Given the description of an element on the screen output the (x, y) to click on. 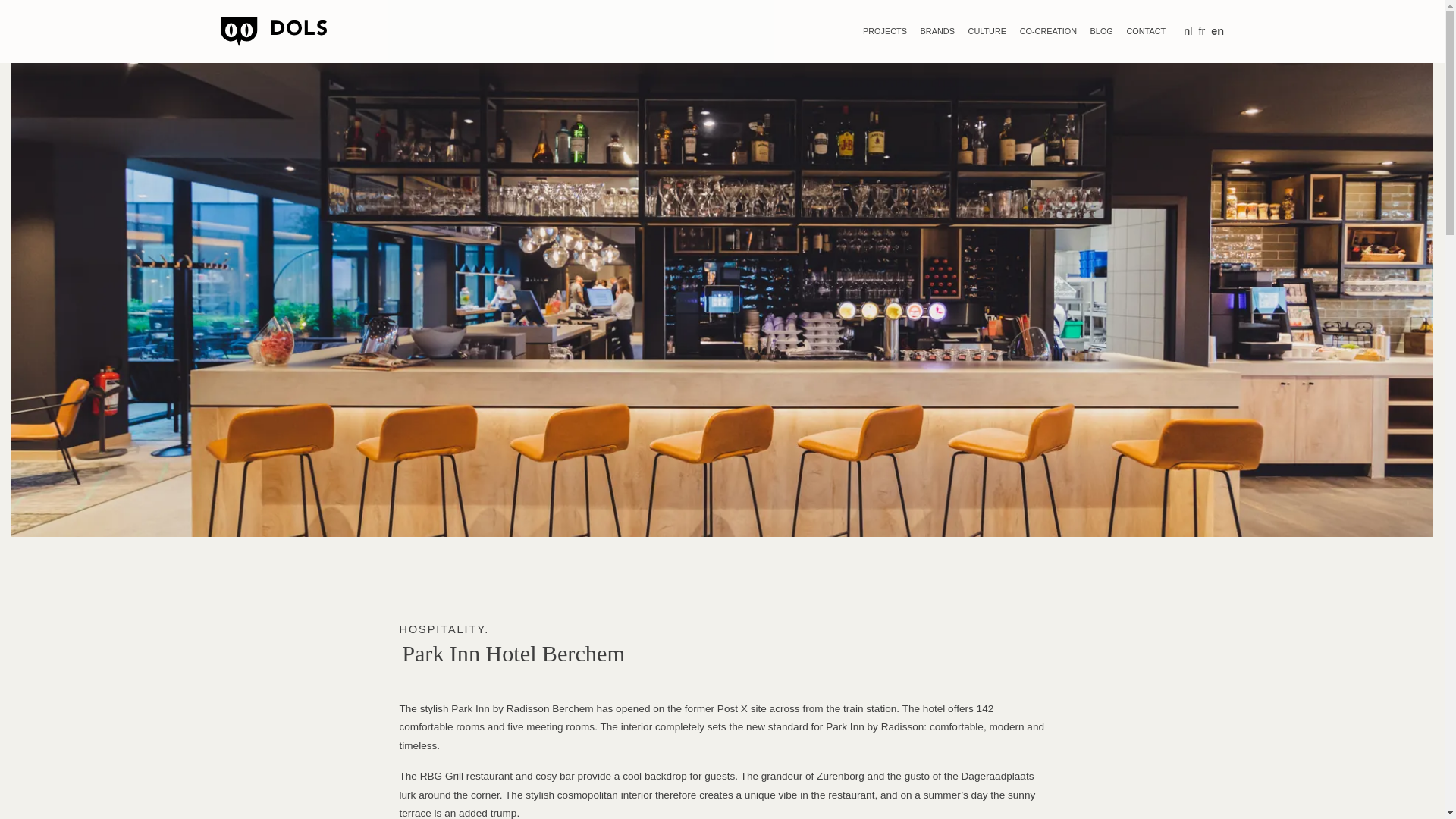
BRANDS (937, 31)
PROJECTS (884, 31)
BLOG (1101, 31)
CO-CREATION (1048, 31)
CONTACT (1145, 31)
CULTURE (987, 31)
en (1217, 30)
